Given the description of an element on the screen output the (x, y) to click on. 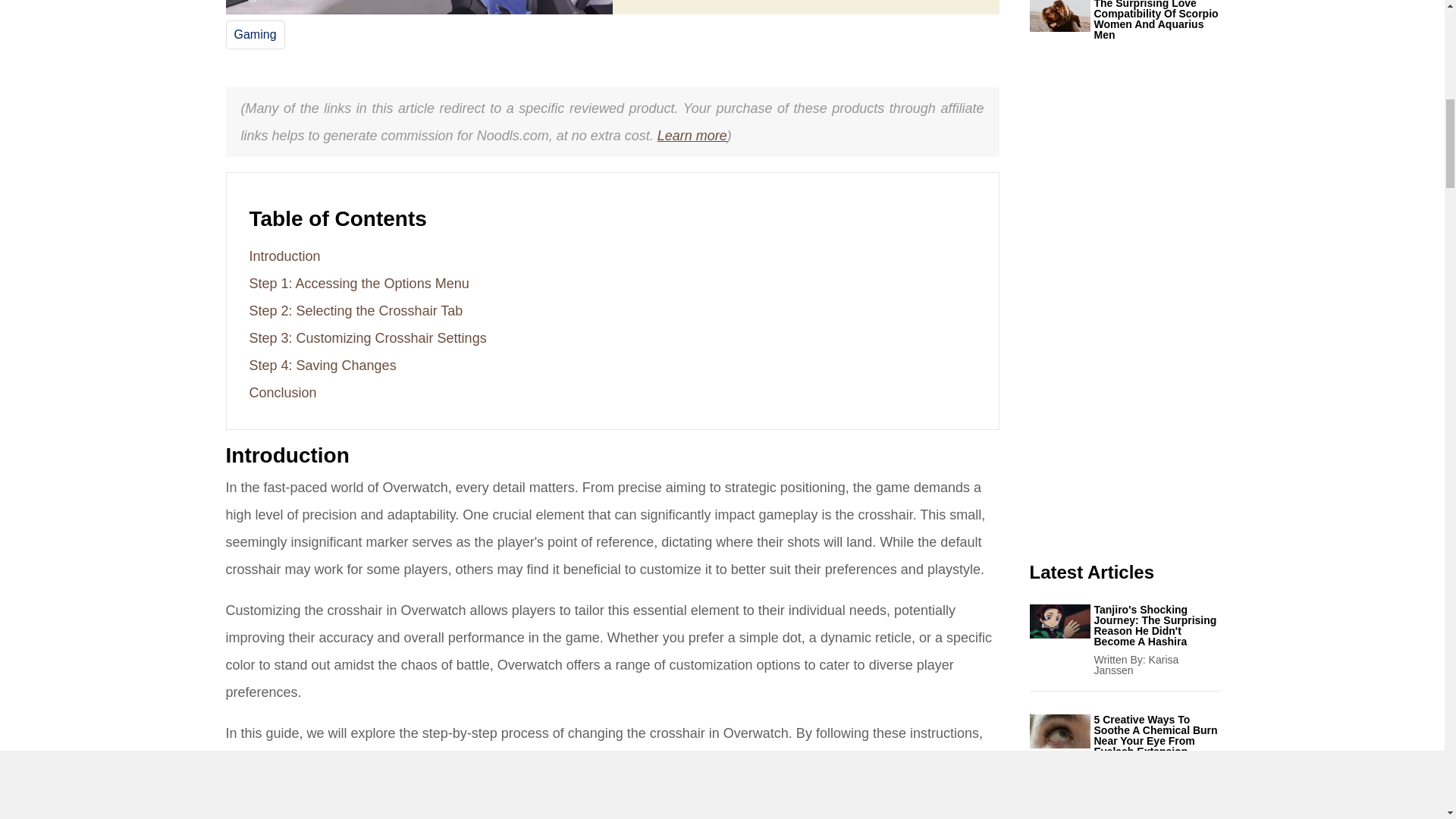
Advertisement (1124, 319)
